Given the description of an element on the screen output the (x, y) to click on. 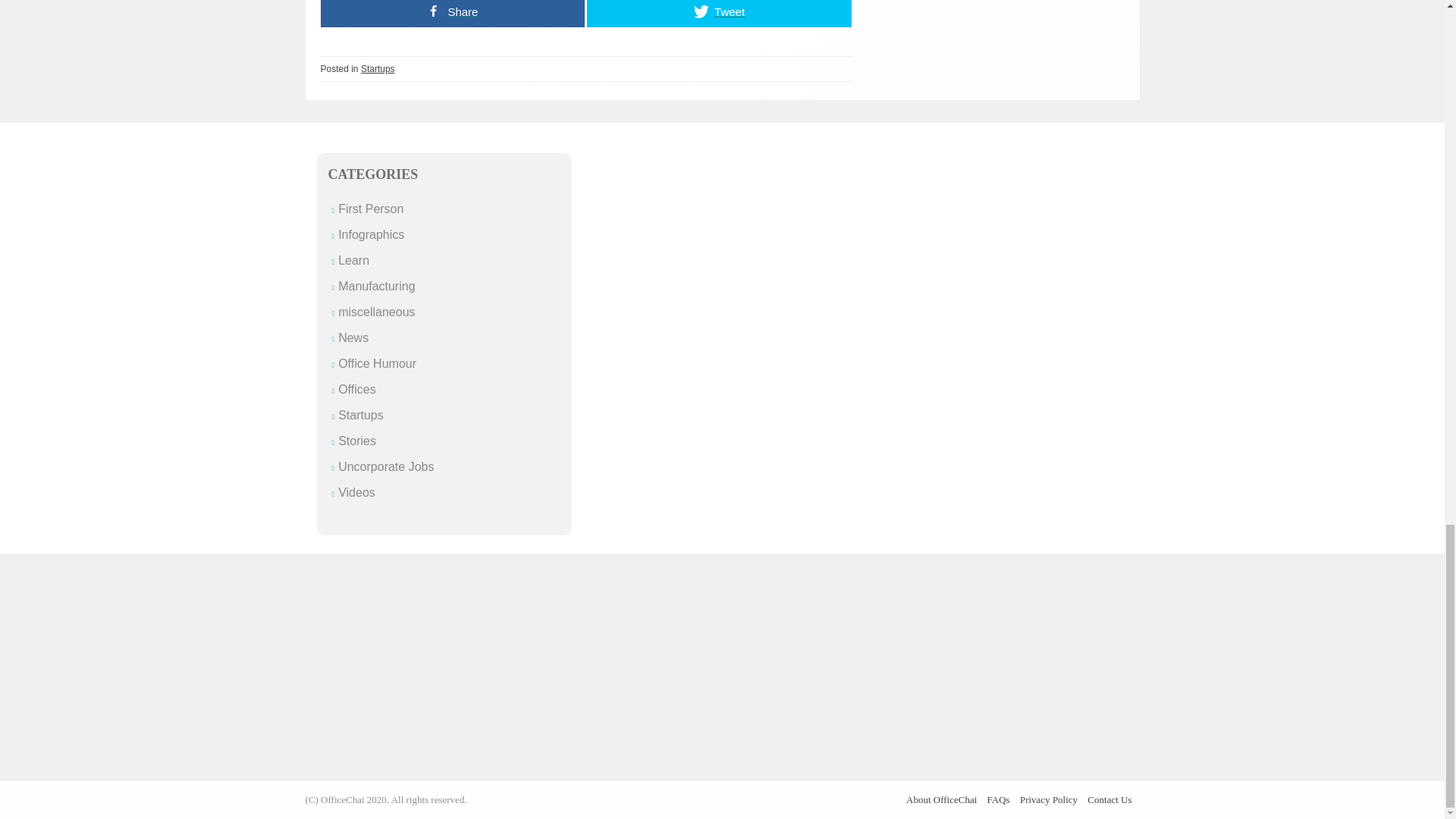
Office Humour (376, 363)
Infographics (370, 234)
Videos (356, 492)
Learn (353, 259)
Uncorporate Jobs (385, 466)
Stories (356, 440)
miscellaneous (375, 311)
Startups (377, 68)
News (352, 337)
Share (452, 13)
Tweet (718, 13)
Manufacturing (375, 286)
First Person (370, 208)
Offices (356, 389)
Startups (360, 414)
